Given the description of an element on the screen output the (x, y) to click on. 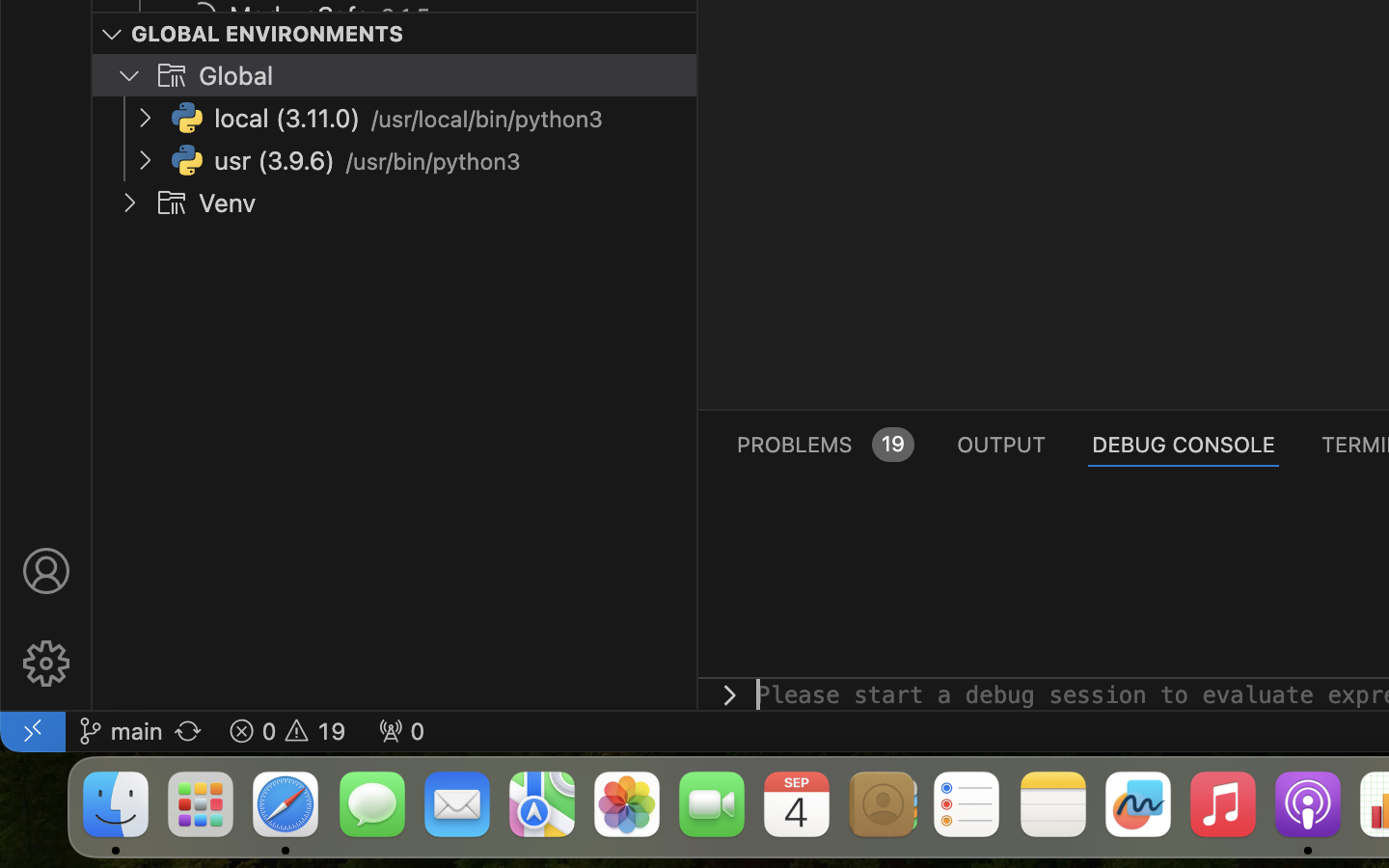
 Element type: AXStaticText (111, 34)
 Element type: AXStaticText (171, 202)
1 DEBUG CONSOLE Element type: AXRadioButton (1183, 443)
0 OUTPUT Element type: AXRadioButton (1001, 443)
Global Element type: AXStaticText (235, 75)
